Given the description of an element on the screen output the (x, y) to click on. 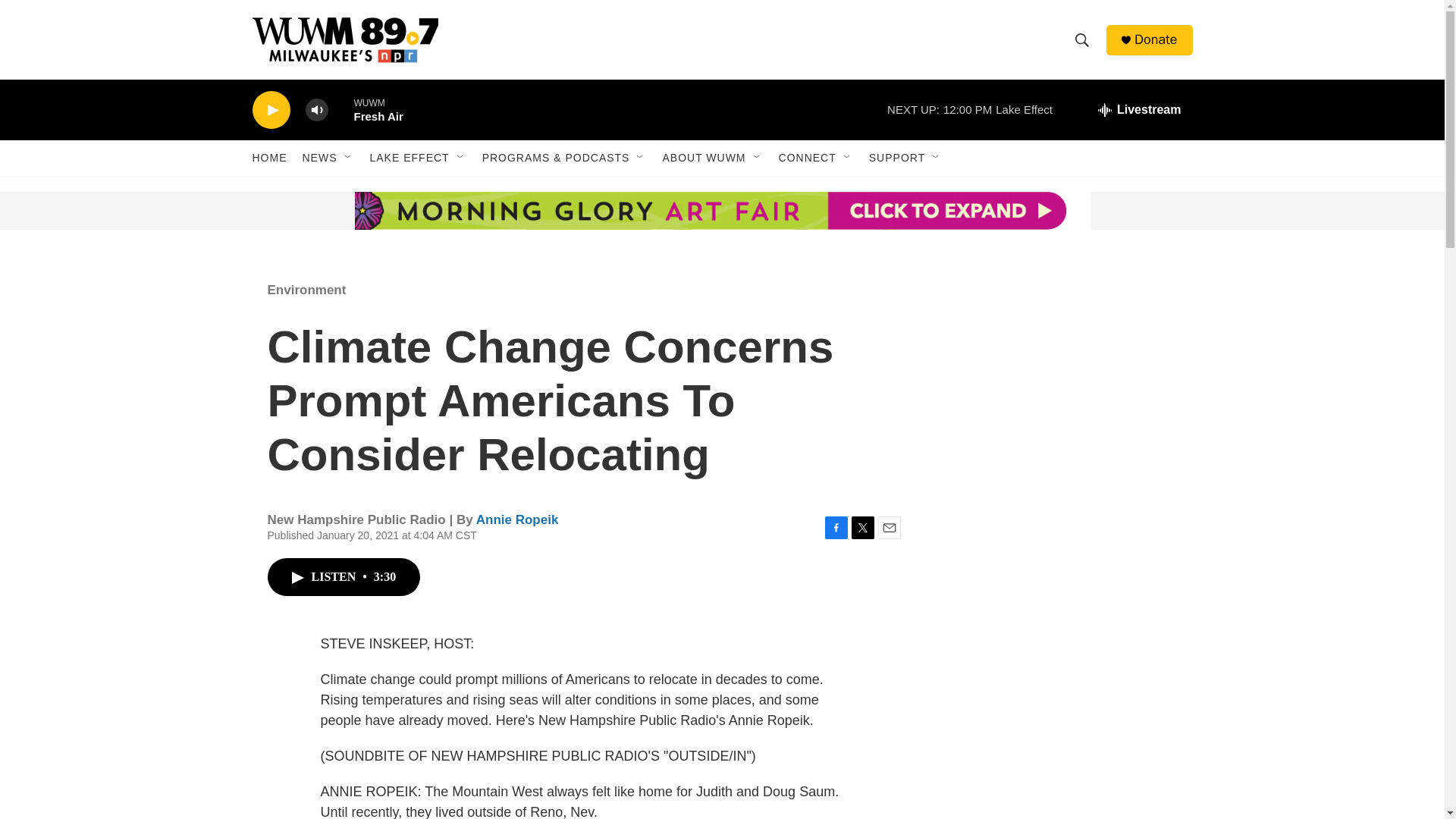
3rd party ad content (367, 210)
3rd party ad content (365, 370)
3rd party ad content (1062, 589)
3rd party ad content (1062, 766)
